Given the description of an element on the screen output the (x, y) to click on. 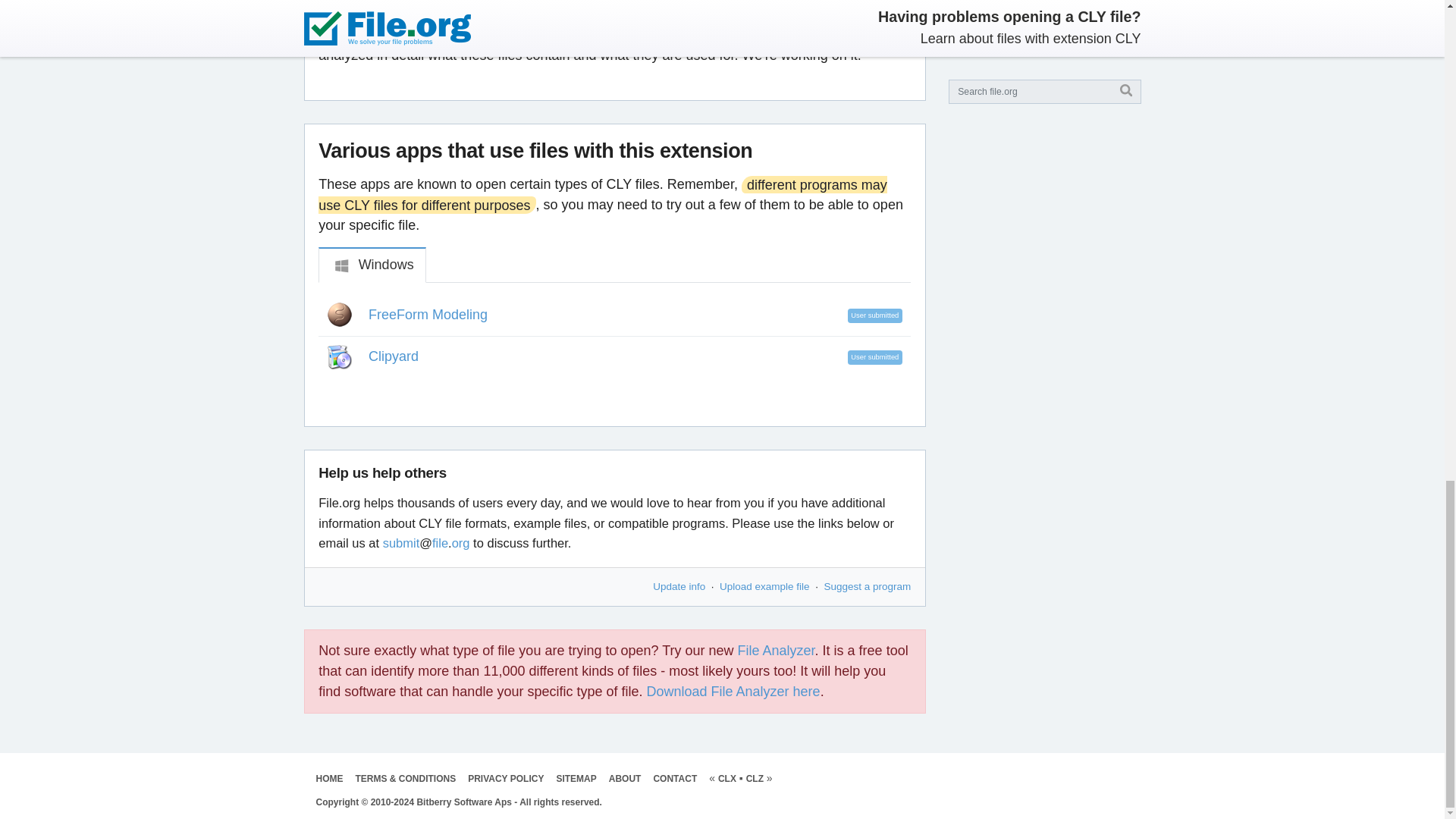
ABOUT (625, 778)
FreeForm Modeling (427, 314)
CLX (726, 778)
Update info (678, 586)
Clipyard (393, 355)
Click here to learn about CLZ Files (753, 778)
SITEMAP (575, 778)
CONTACT (674, 778)
Upload example file (764, 586)
CLZ (753, 778)
